Given the description of an element on the screen output the (x, y) to click on. 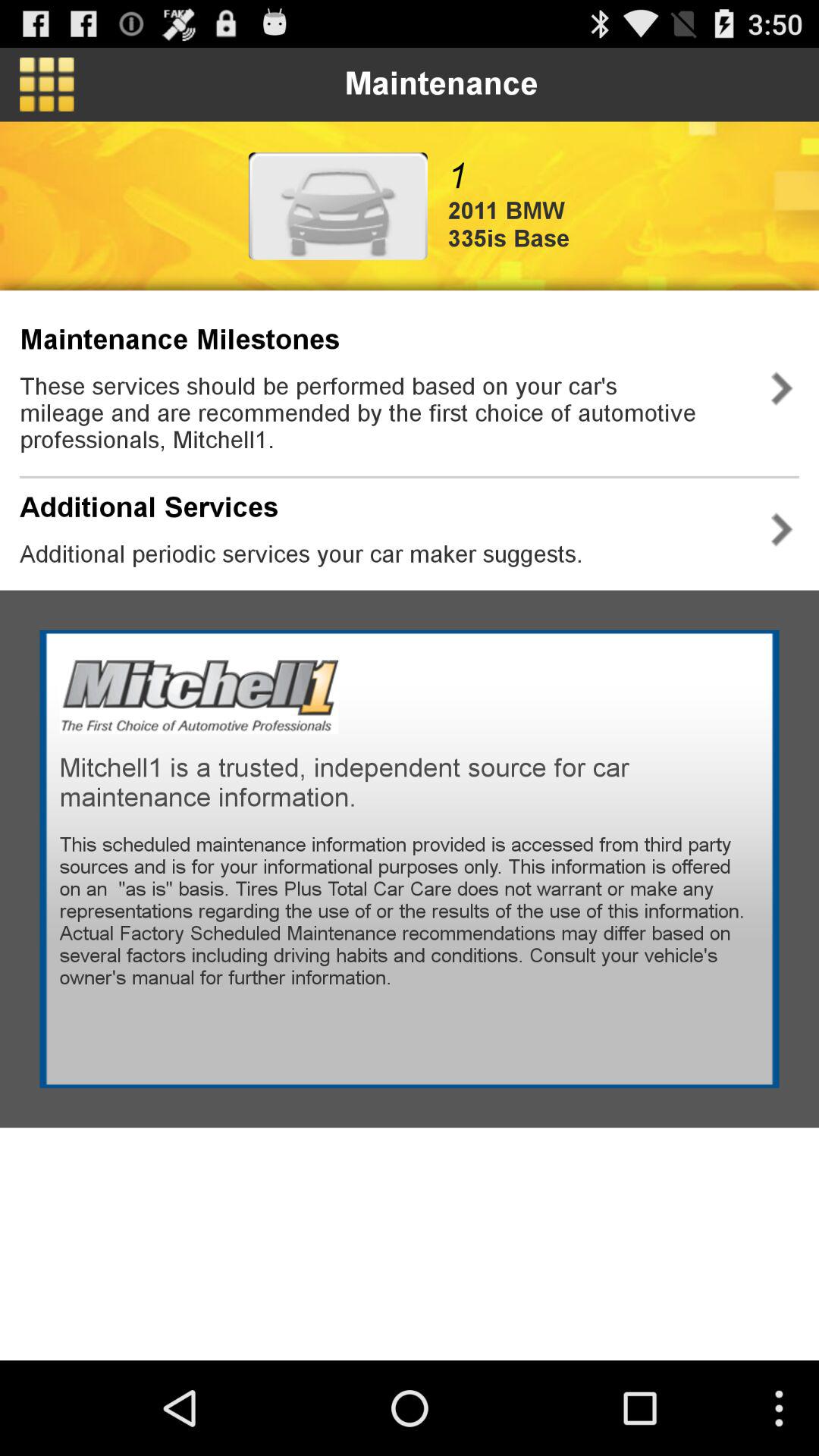
choose the app above the additional services icon (382, 413)
